Given the description of an element on the screen output the (x, y) to click on. 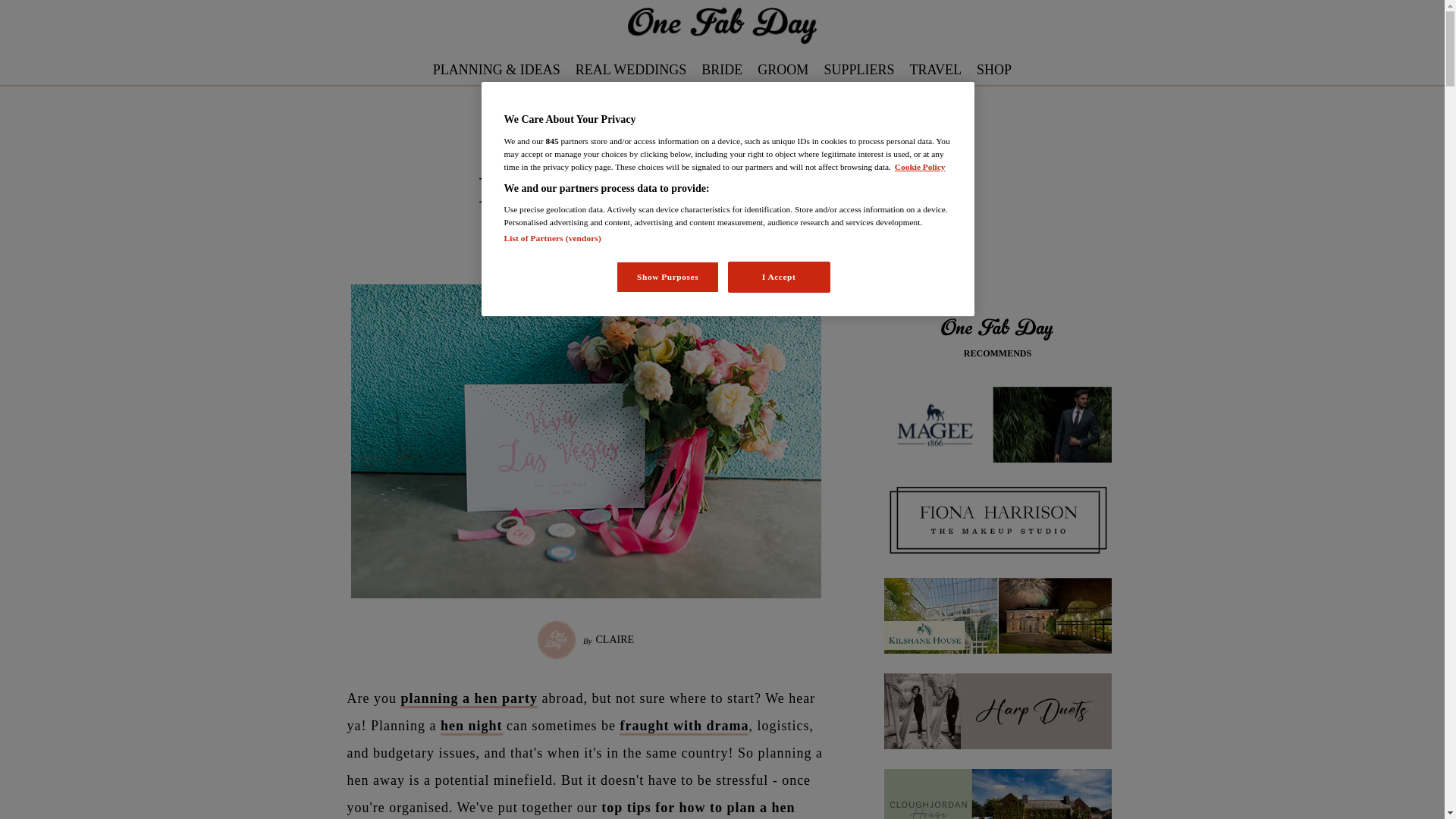
REAL WEDDINGS (630, 70)
